Given the description of an element on the screen output the (x, y) to click on. 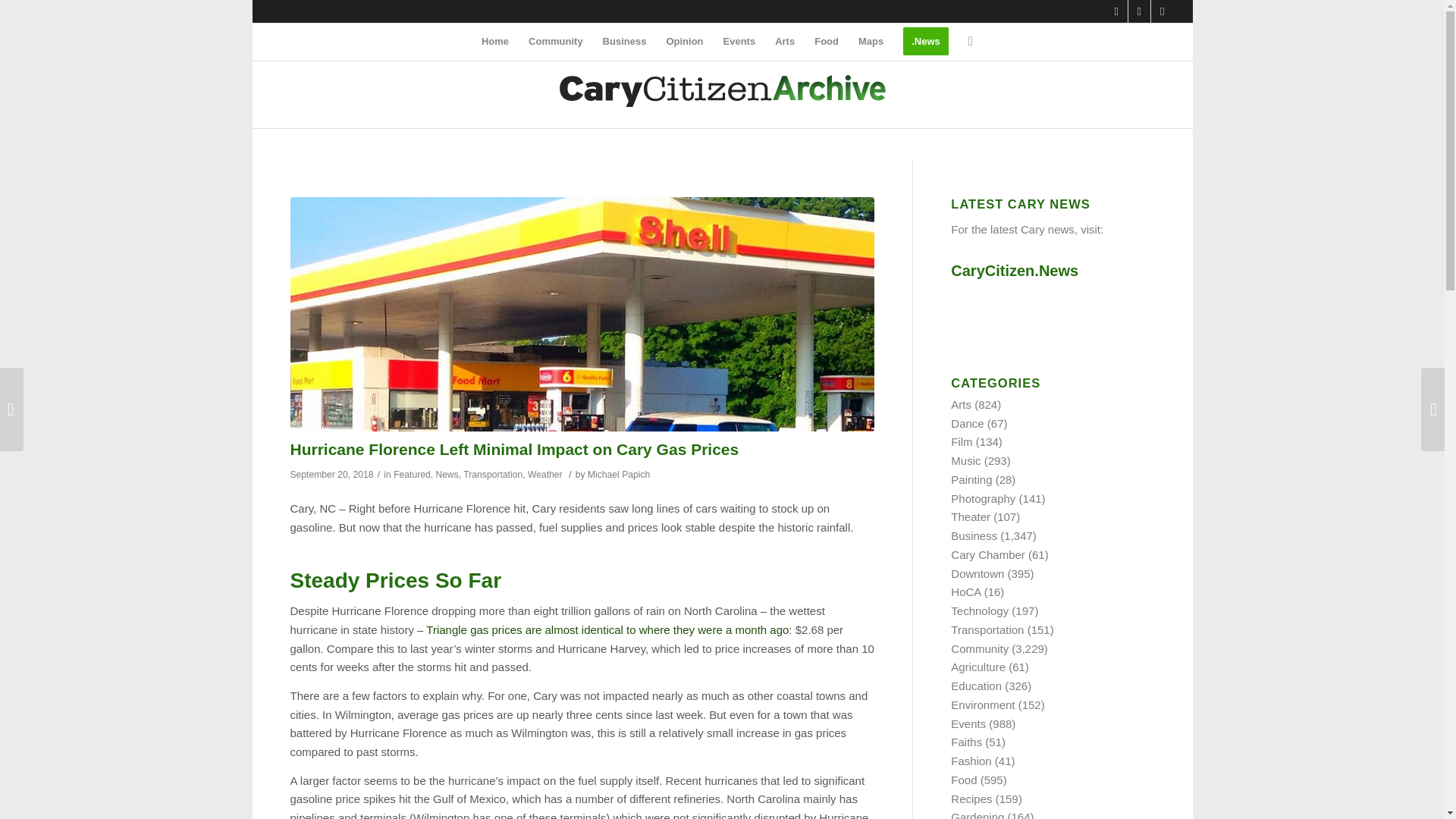
News (446, 474)
Opinion (684, 41)
Community (555, 41)
Business (624, 41)
Featured (411, 474)
Weather (544, 474)
Transportation (492, 474)
Home (494, 41)
Posts by Michael Papich (618, 474)
